Given the description of an element on the screen output the (x, y) to click on. 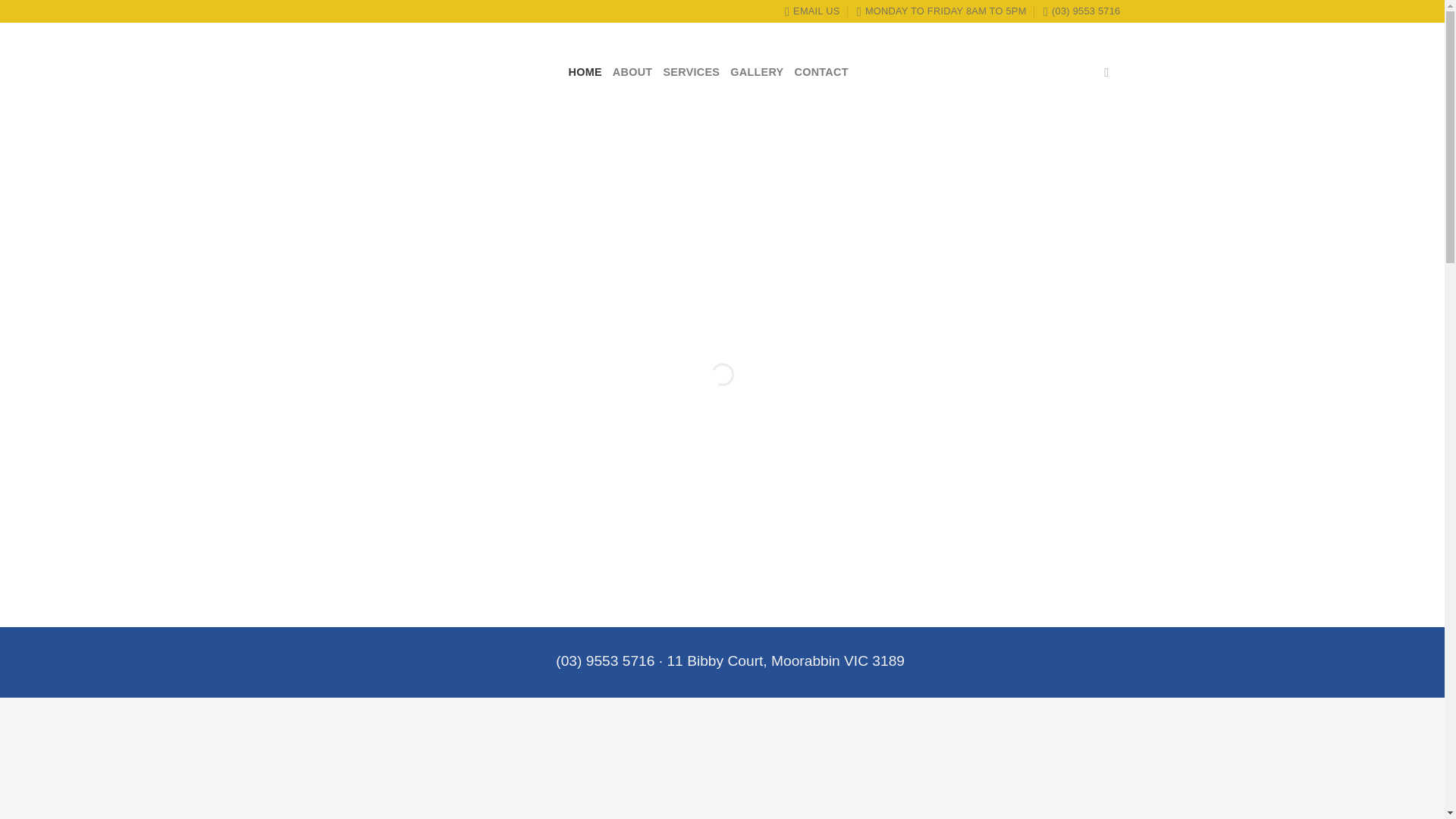
SERVICES (690, 71)
ABOUT (632, 71)
CONTACT (821, 71)
11 Bibby Court, Moorabbin VIC 3189 (785, 660)
GALLERY (756, 71)
Follow on Facebook (1109, 71)
EMAIL US (812, 11)
MONDAY TO FRIDAY 8AM TO 5PM (941, 11)
Marco's Automotive - Service And Vehicle Repairs (435, 71)
